Given the description of an element on the screen output the (x, y) to click on. 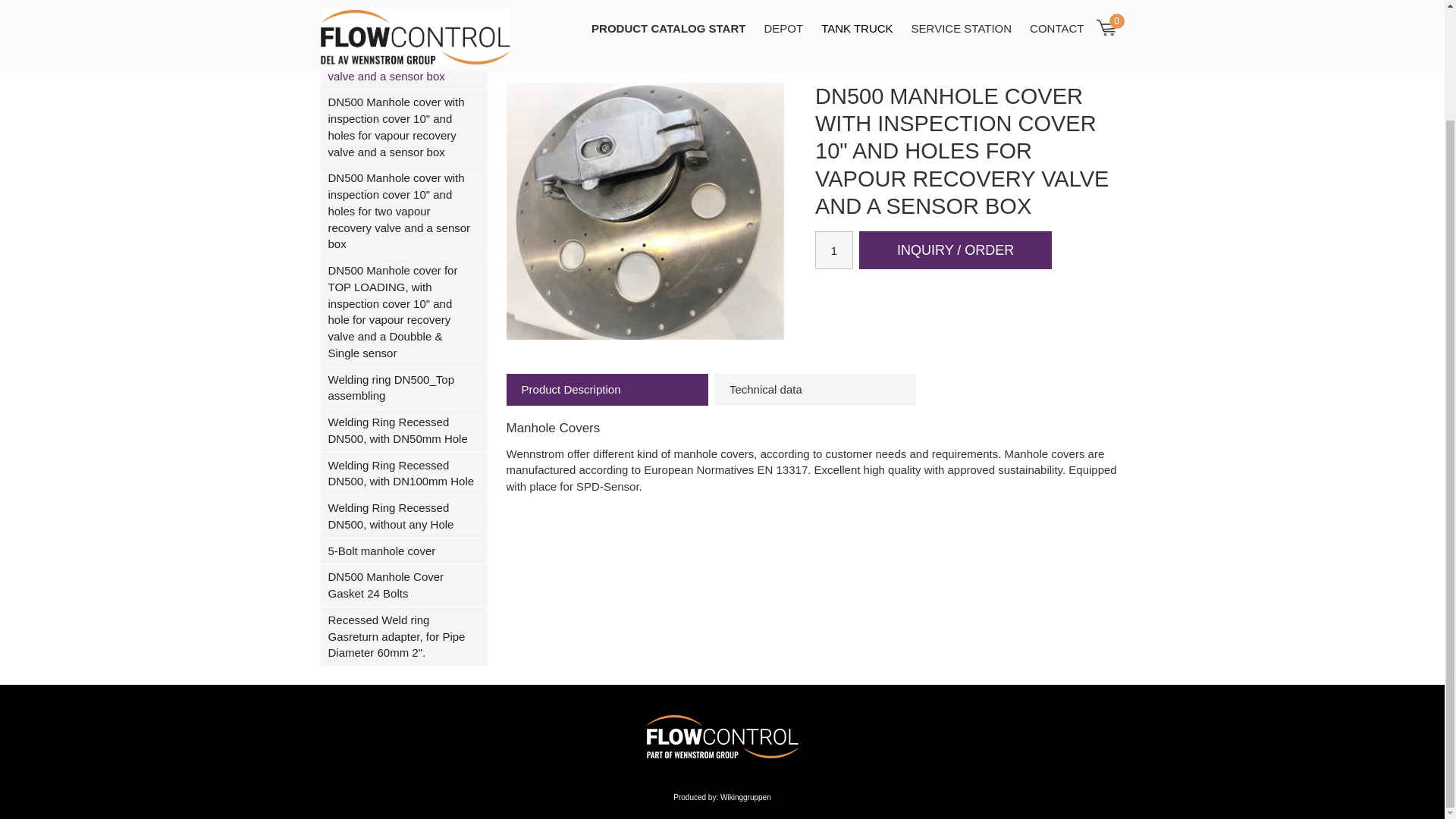
Manhole covers (733, 33)
1 (834, 249)
Manhole covers (733, 33)
Welding Ring Recessed DN500, without any Hole (403, 516)
DN500 Manhole cover with inspection cover 10 (403, 51)
Welding Ring Recessed DN500, with DN50mm Hole (403, 430)
Wikinggruppen (745, 797)
